Given the description of an element on the screen output the (x, y) to click on. 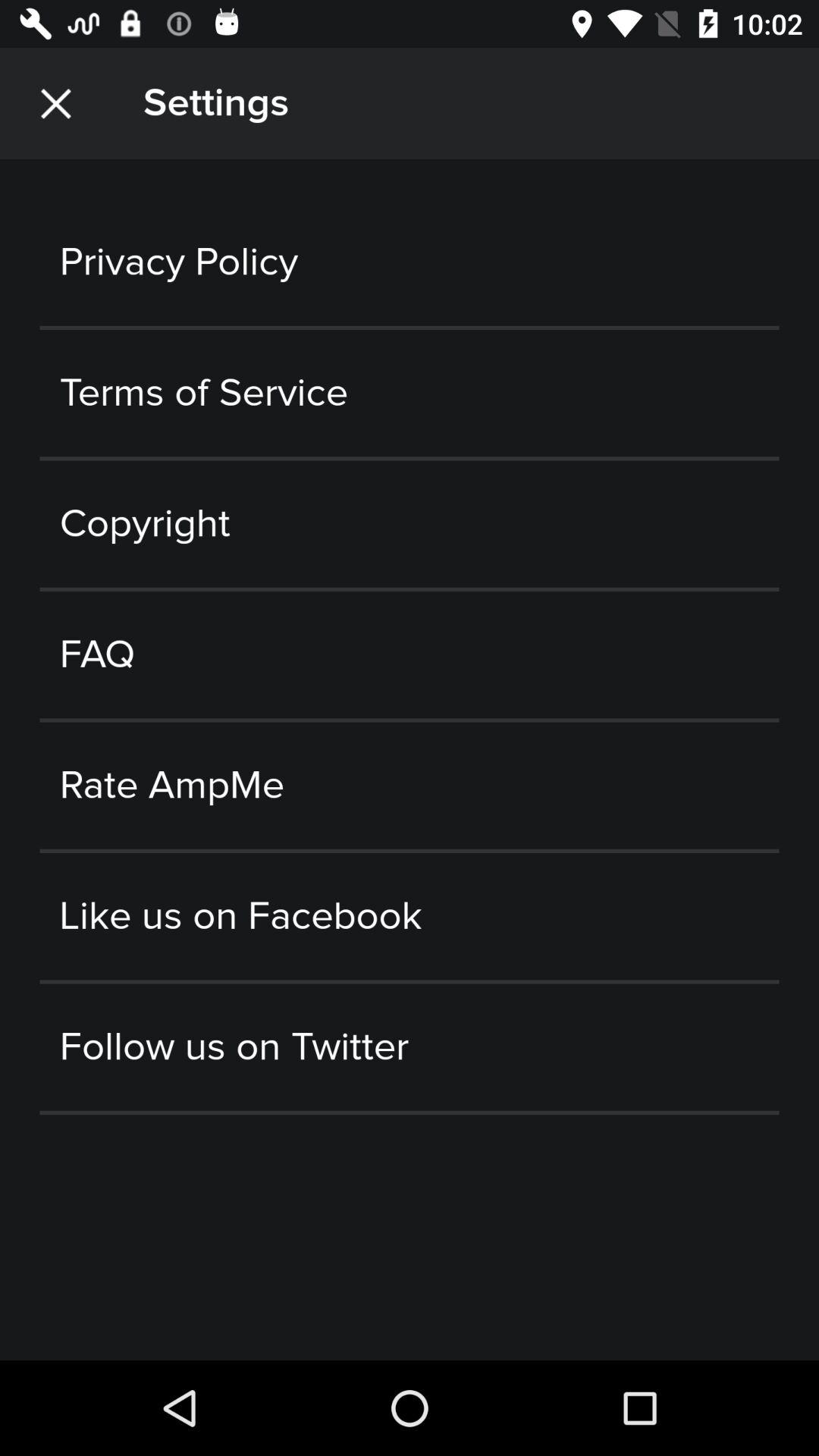
select rate ampme item (409, 785)
